Given the description of an element on the screen output the (x, y) to click on. 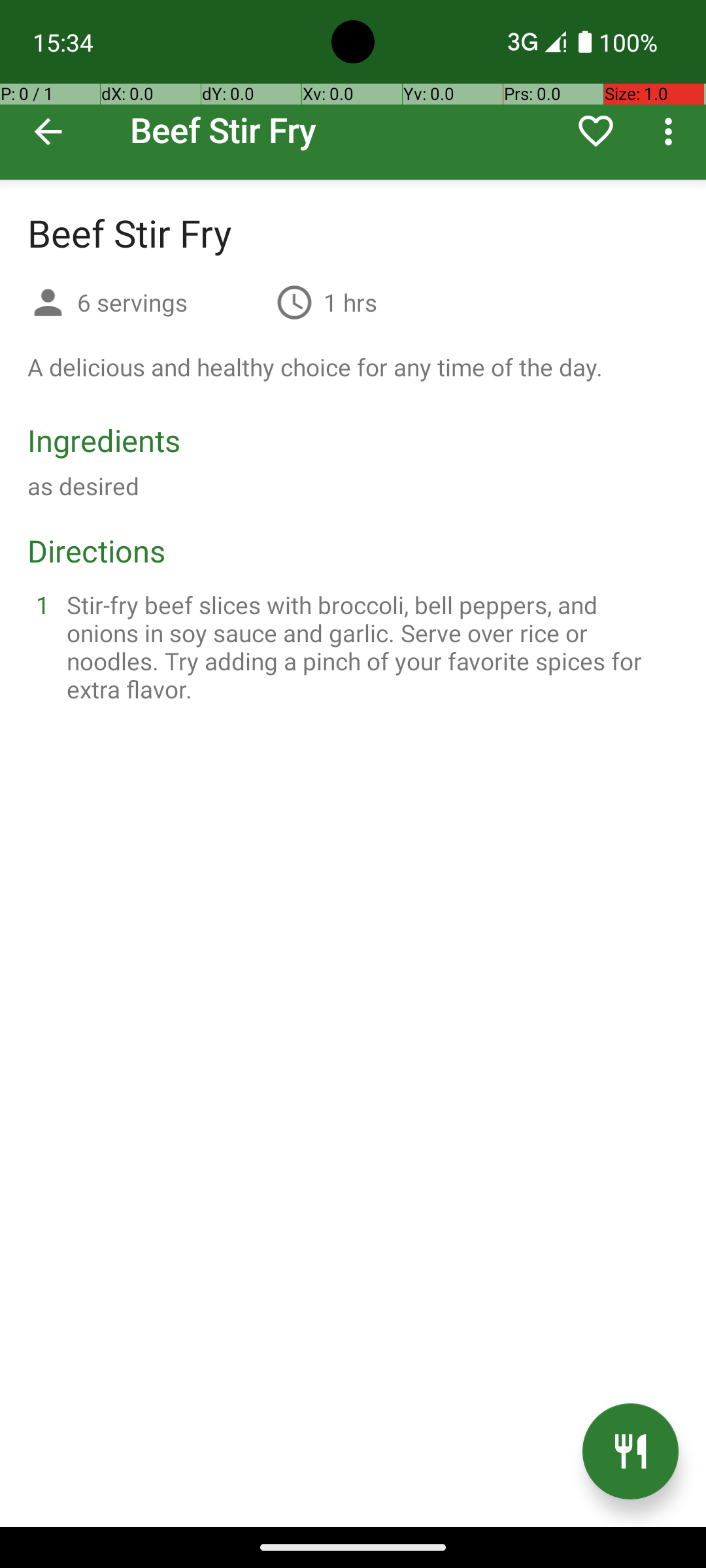
Beef Stir Fry Element type: android.widget.FrameLayout (353, 89)
Cook Element type: android.widget.ImageButton (630, 1451)
Recipe photo Element type: android.widget.ImageView (353, 89)
Mark as favorite Element type: android.widget.Button (595, 131)
Servings Element type: android.widget.ImageView (47, 303)
6 servings Element type: android.widget.TextView (170, 301)
1 hrs Element type: android.widget.TextView (350, 301)
A delicious and healthy choice for any time of the day. Element type: android.widget.TextView (314, 366)
Ingredients Element type: android.widget.TextView (103, 439)
as desired Element type: android.widget.TextView (83, 485)
Directions Element type: android.widget.TextView (96, 550)
Stir-fry beef slices with broccoli, bell peppers, and onions in soy sauce and garlic. Serve over rice or noodles. Try adding a pinch of your favorite spices for extra flavor. Element type: android.widget.TextView (368, 646)
